Given the description of an element on the screen output the (x, y) to click on. 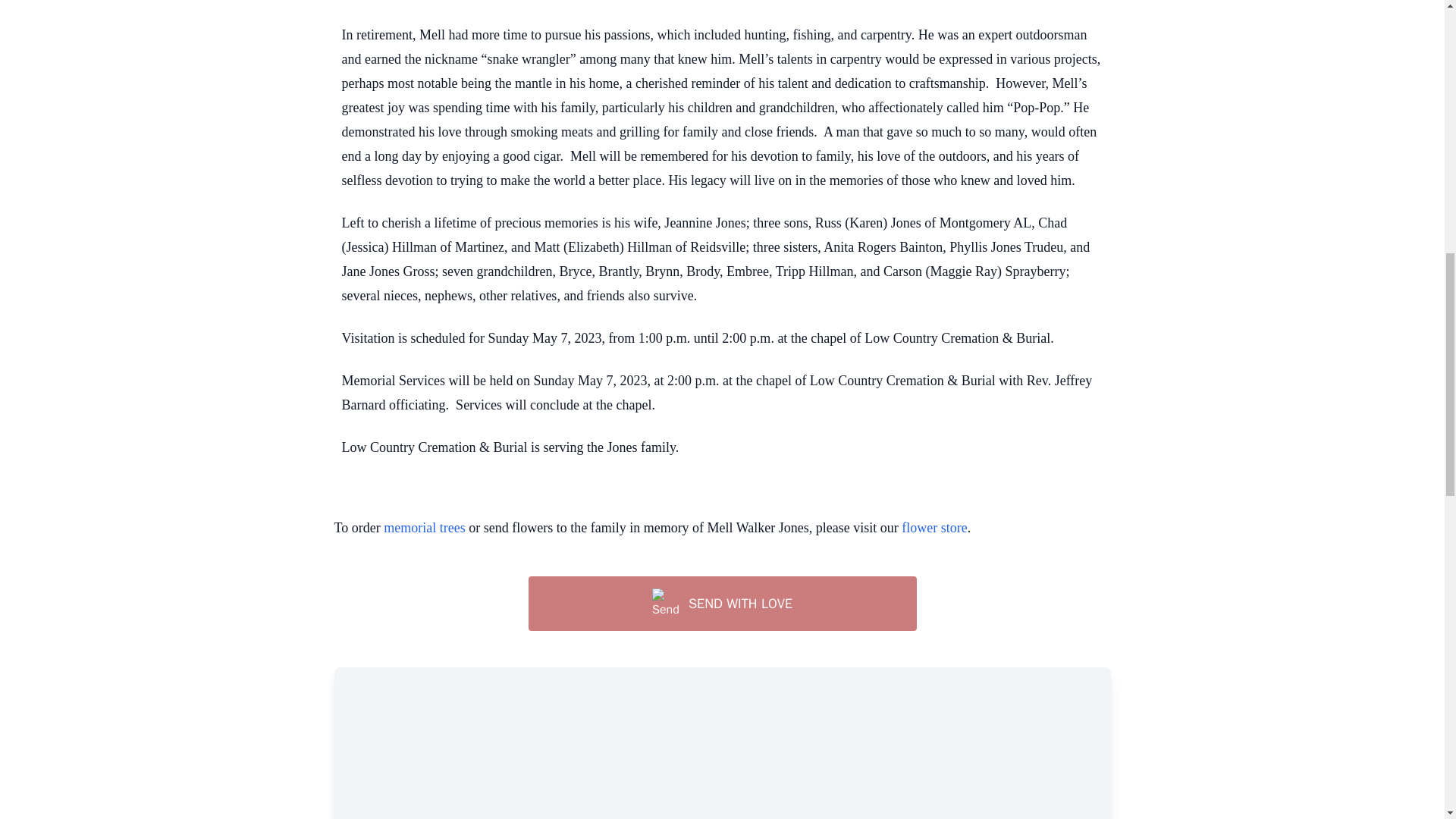
flower store (933, 527)
memorial trees (424, 527)
SEND WITH LOVE (721, 603)
